Given the description of an element on the screen output the (x, y) to click on. 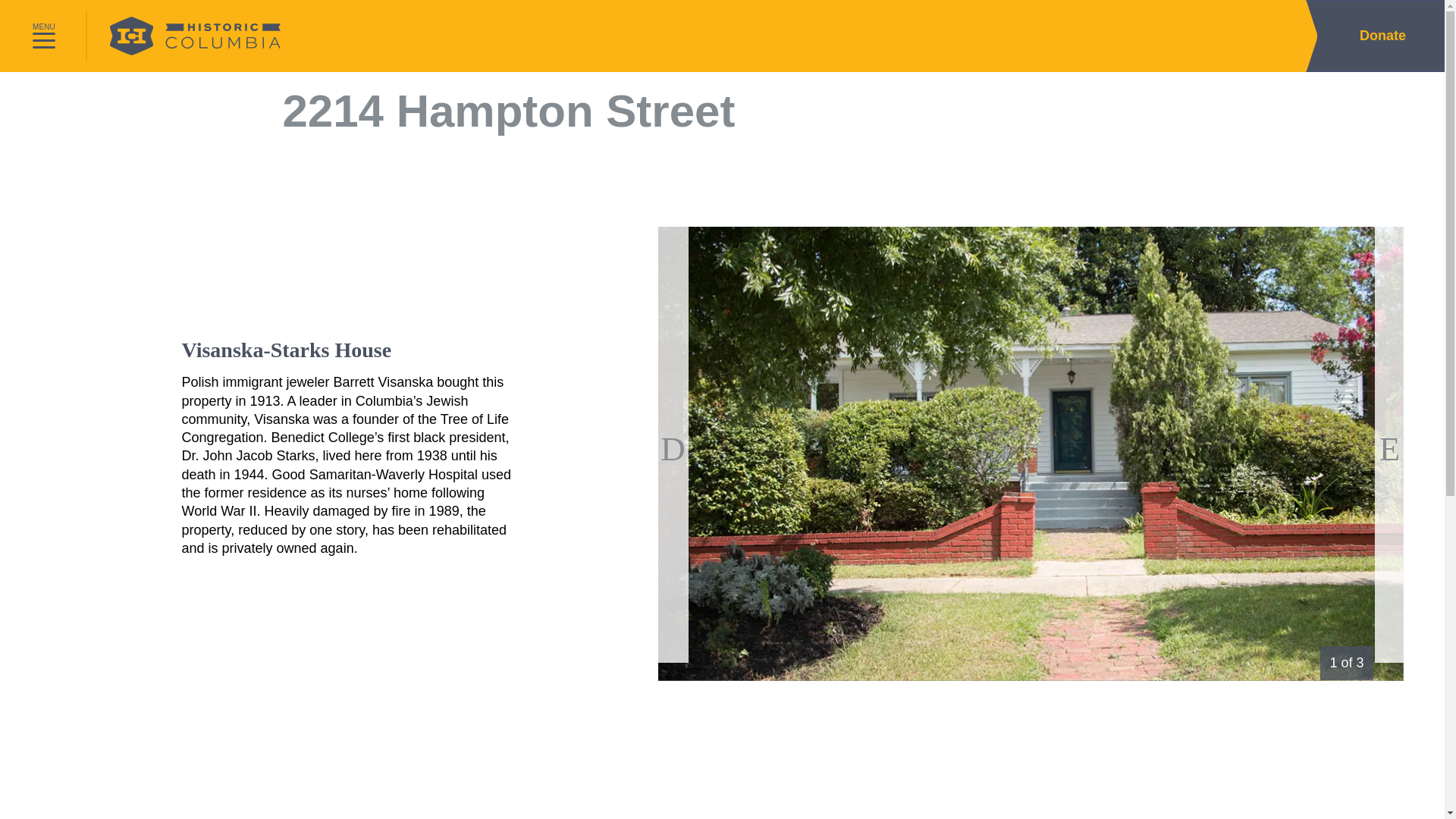
Historic Columbia (184, 35)
Historic Columbia (184, 35)
